Given the description of an element on the screen output the (x, y) to click on. 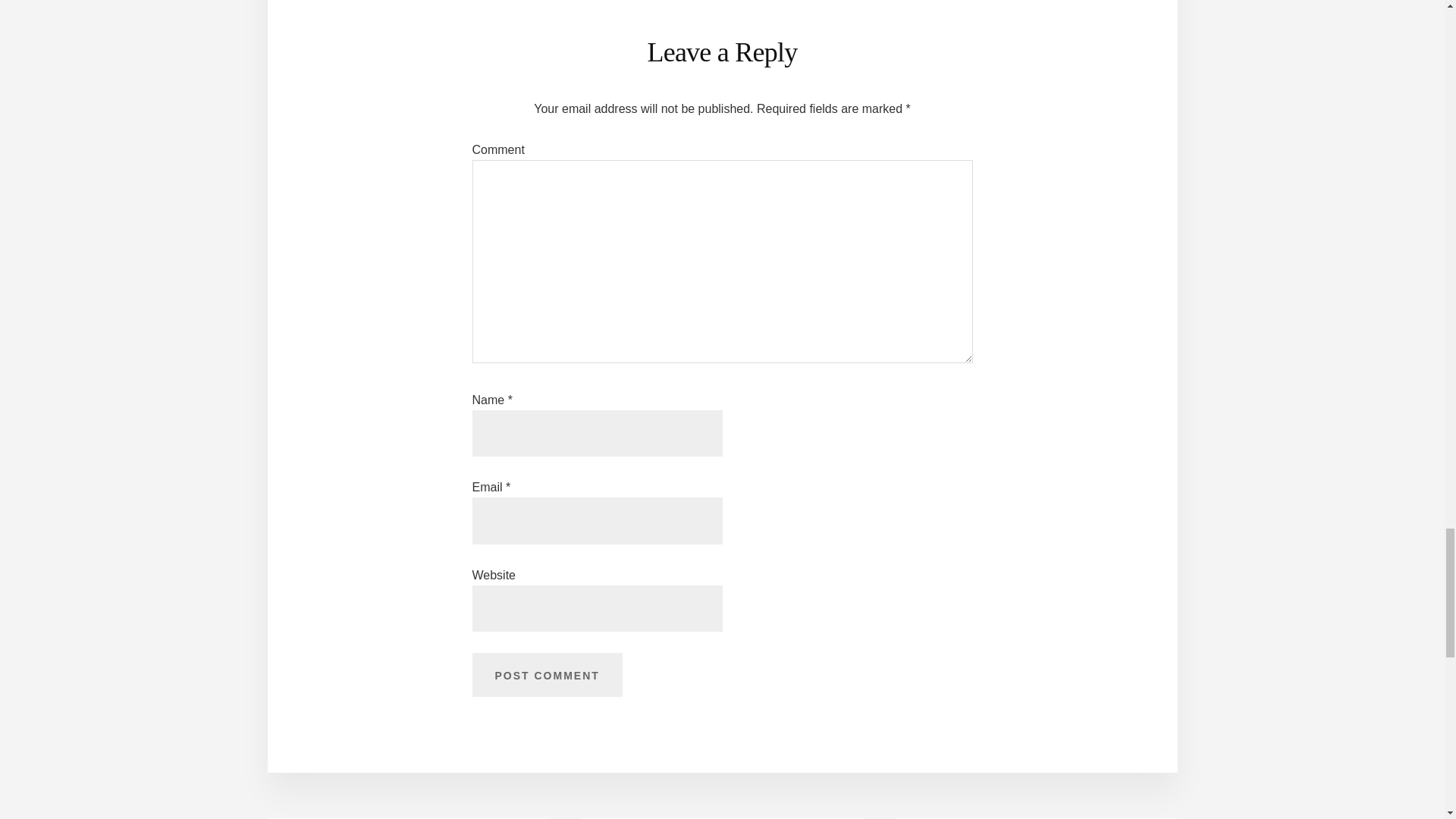
Post Comment (546, 674)
Post Comment (546, 674)
